Given the description of an element on the screen output the (x, y) to click on. 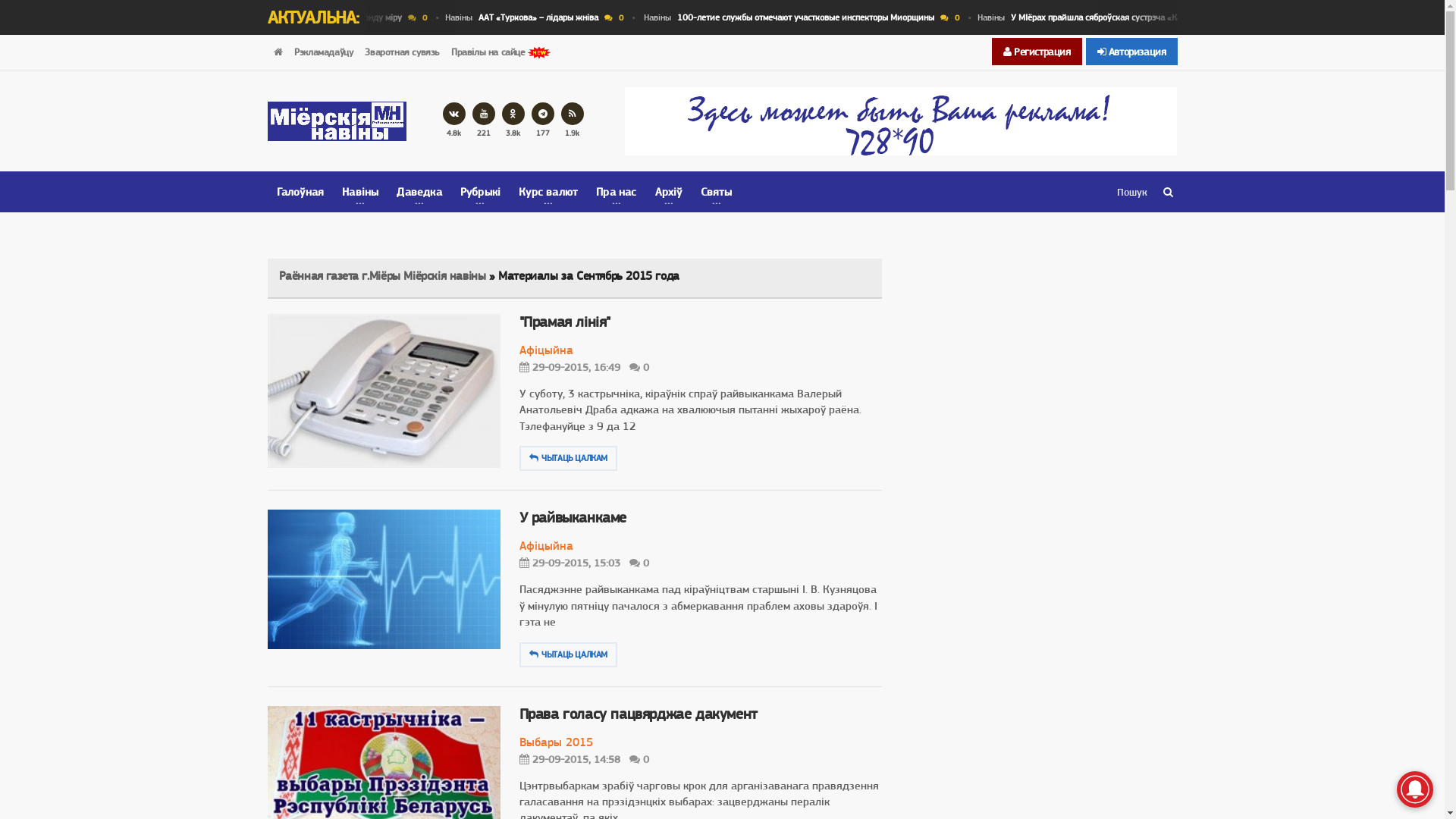
0 Element type: text (639, 757)
3.8k Element type: text (513, 120)
221 Element type: text (483, 120)
4.8k Element type: text (453, 120)
1.9k Element type: text (572, 120)
177 Element type: text (542, 120)
0 Element type: text (639, 562)
0 Element type: text (767, 17)
0 Element type: text (1102, 17)
0 Element type: text (571, 17)
0 Element type: text (639, 366)
